Given the description of an element on the screen output the (x, y) to click on. 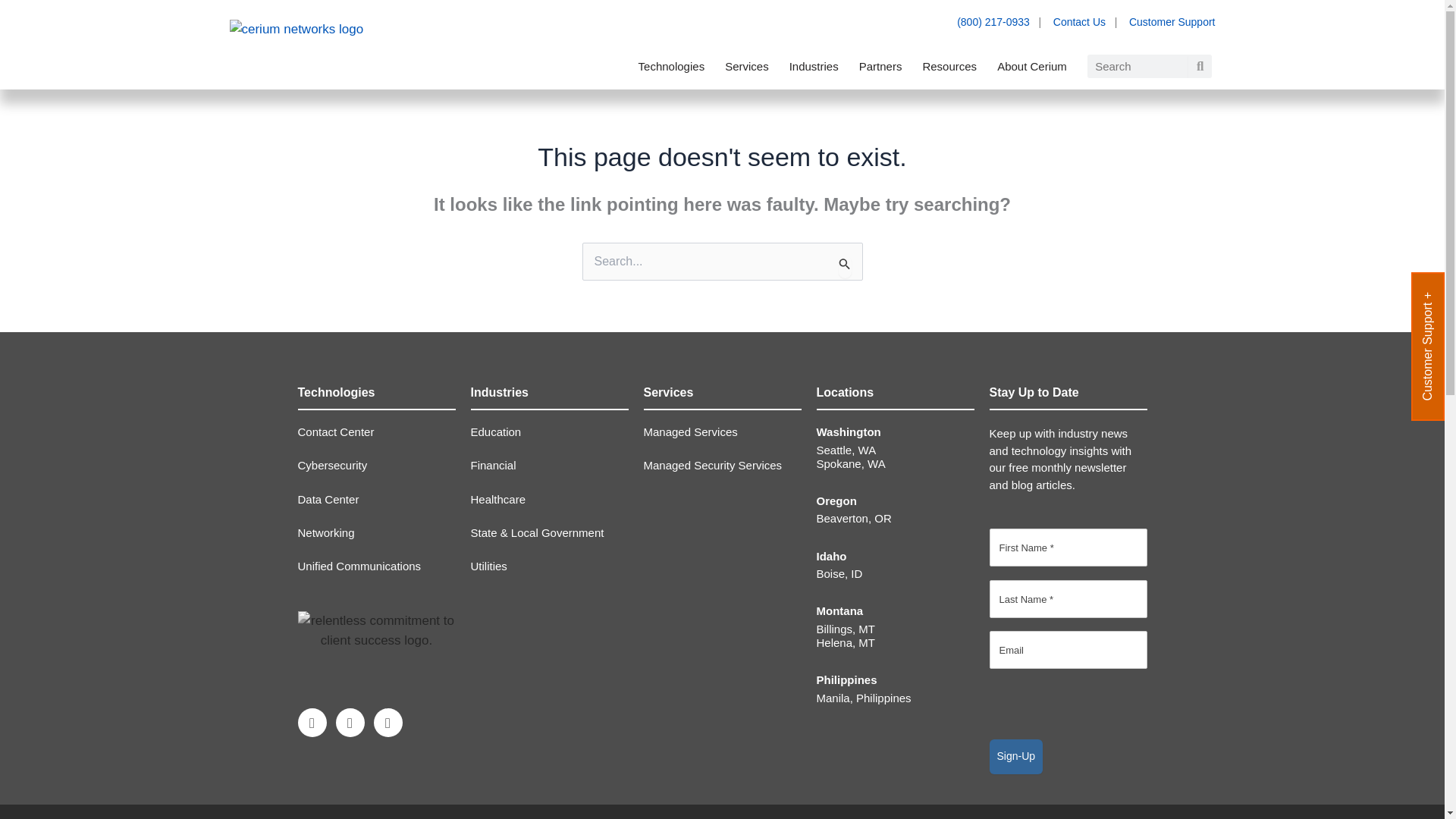
Customer Support (1172, 21)
Resources (949, 66)
Technologies (671, 66)
Services (746, 66)
reCAPTCHA (1104, 712)
Contact Us (1078, 21)
Industries (814, 66)
About Cerium (1031, 66)
Partners (880, 66)
